Given the description of an element on the screen output the (x, y) to click on. 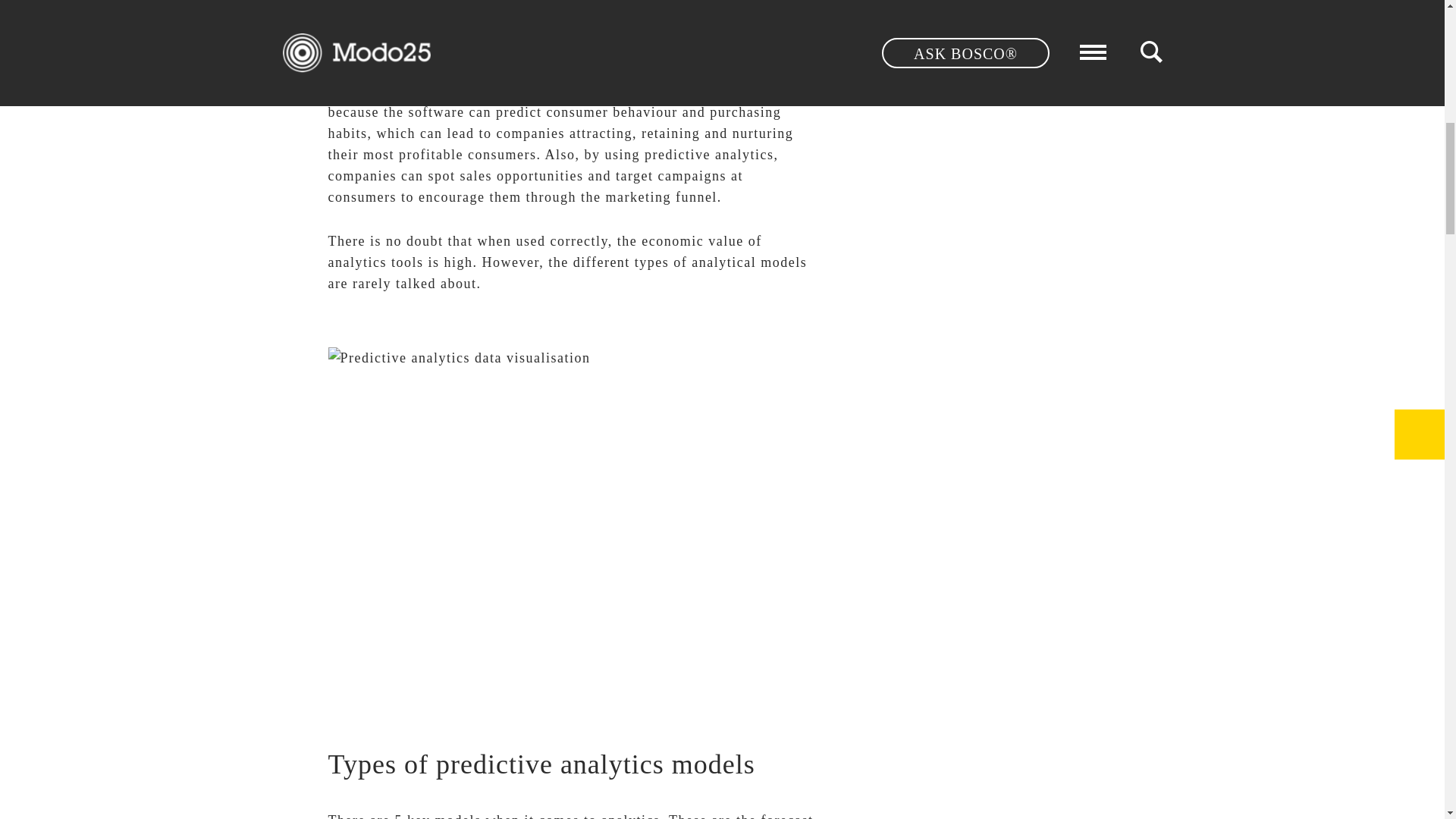
assess in-depth historical data (426, 47)
